Given the description of an element on the screen output the (x, y) to click on. 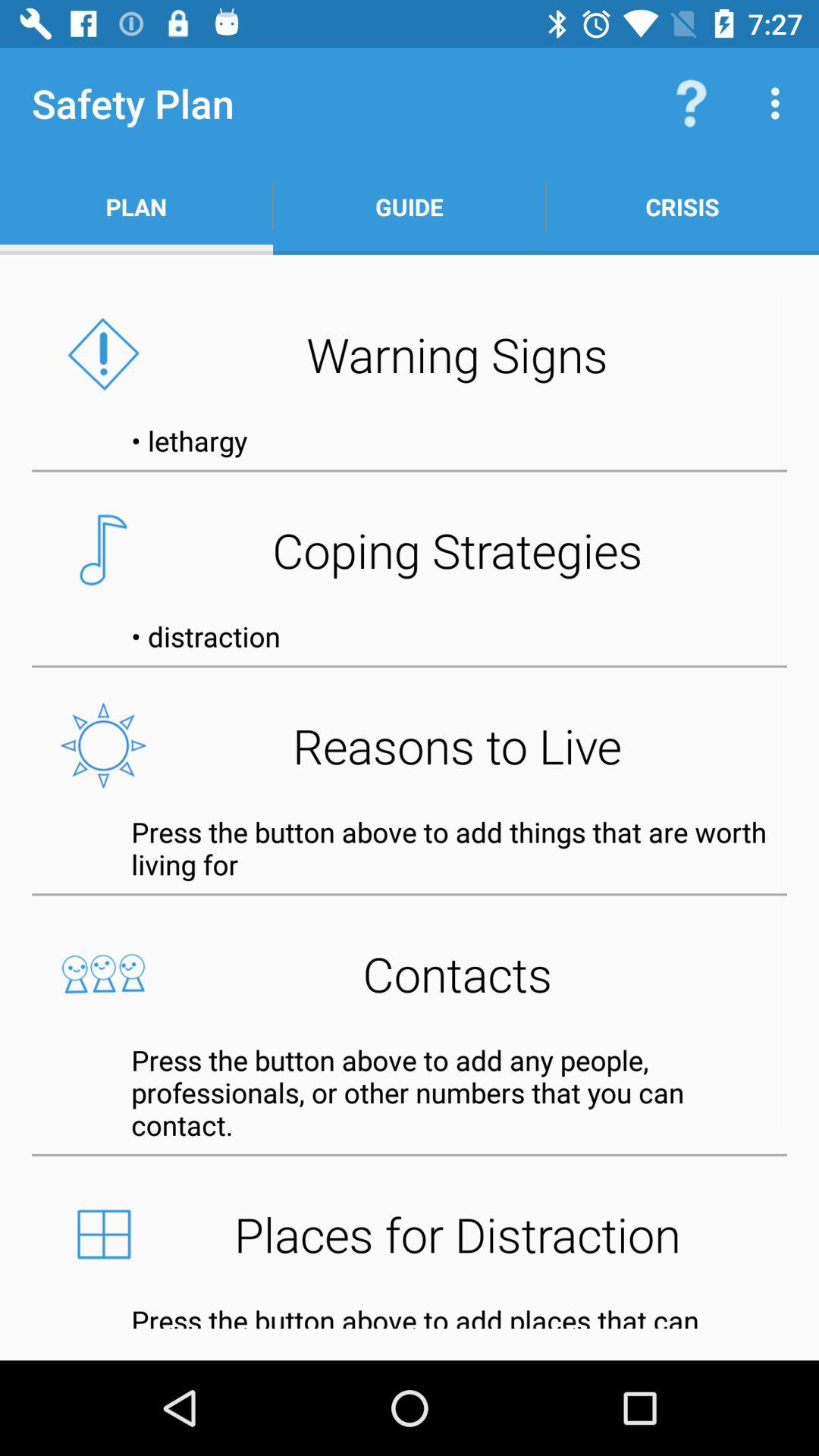
turn on contacts (409, 973)
